Given the description of an element on the screen output the (x, y) to click on. 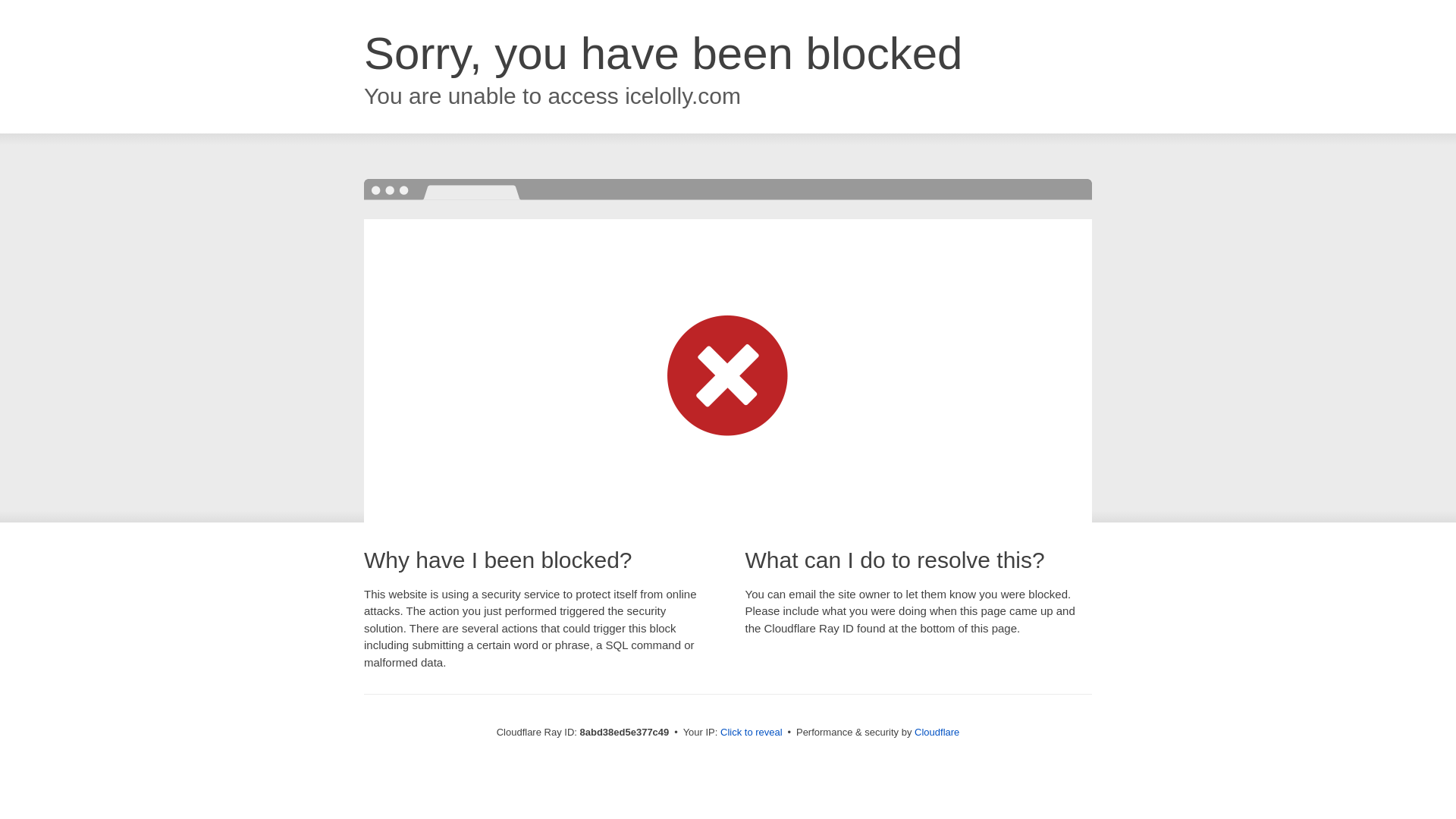
Cloudflare (936, 731)
Click to reveal (751, 732)
